Given the description of an element on the screen output the (x, y) to click on. 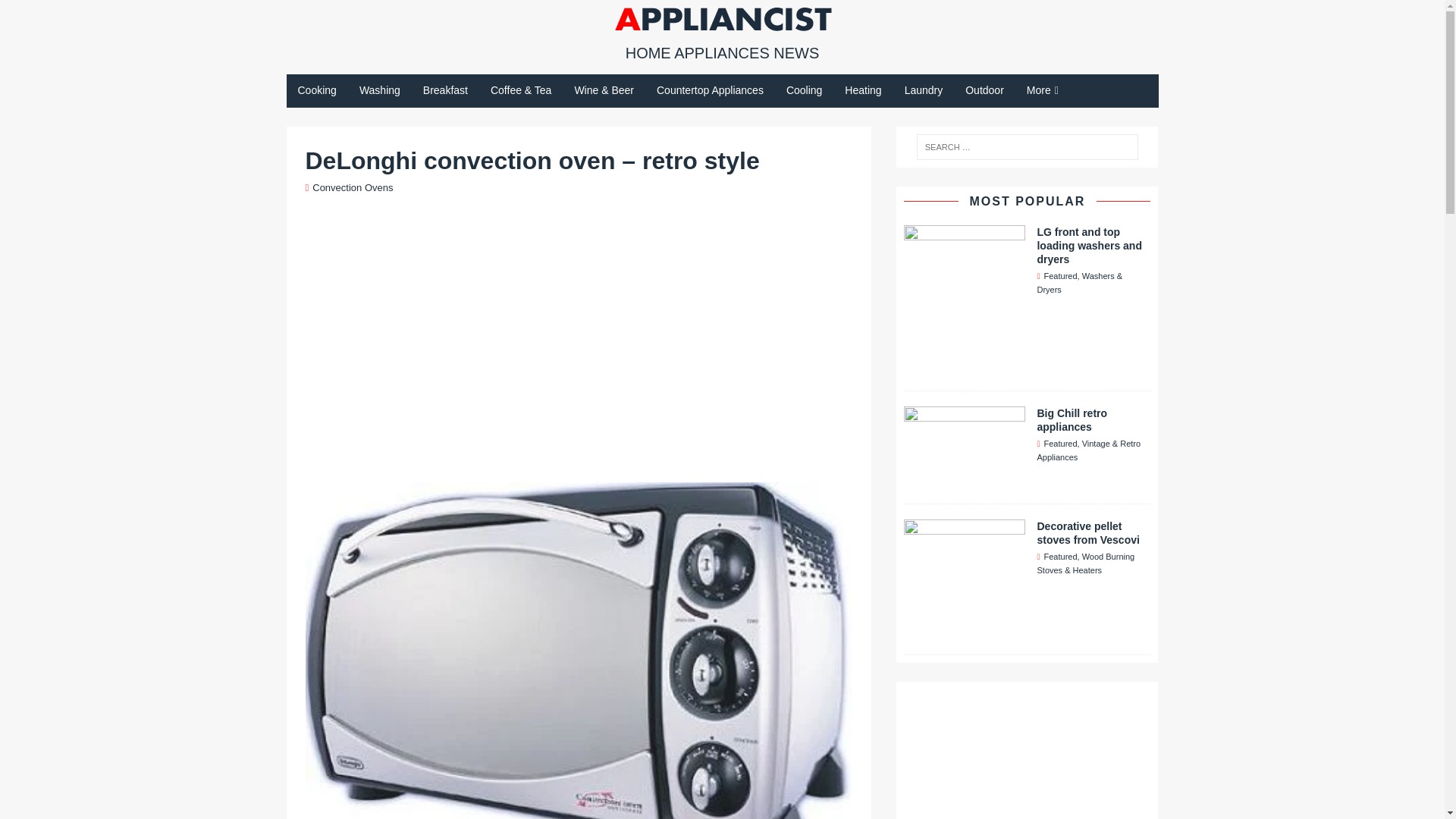
More (1042, 90)
Washing (379, 90)
Countertop Appliances (709, 90)
Decorative pellet stoves from Vescovi (964, 630)
Outdoor (983, 90)
Heating (862, 90)
Laundry (924, 90)
HOME   APPLIANCES   NEWS (722, 54)
HOME APPLIANCES NEWS (722, 54)
Cooling (803, 90)
LG front and top loading washers and dryers (1088, 245)
Breakfast (445, 90)
LG front and top loading washers and dryers (964, 366)
Big Chill retro appliances (1071, 420)
Cooking (316, 90)
